Given the description of an element on the screen output the (x, y) to click on. 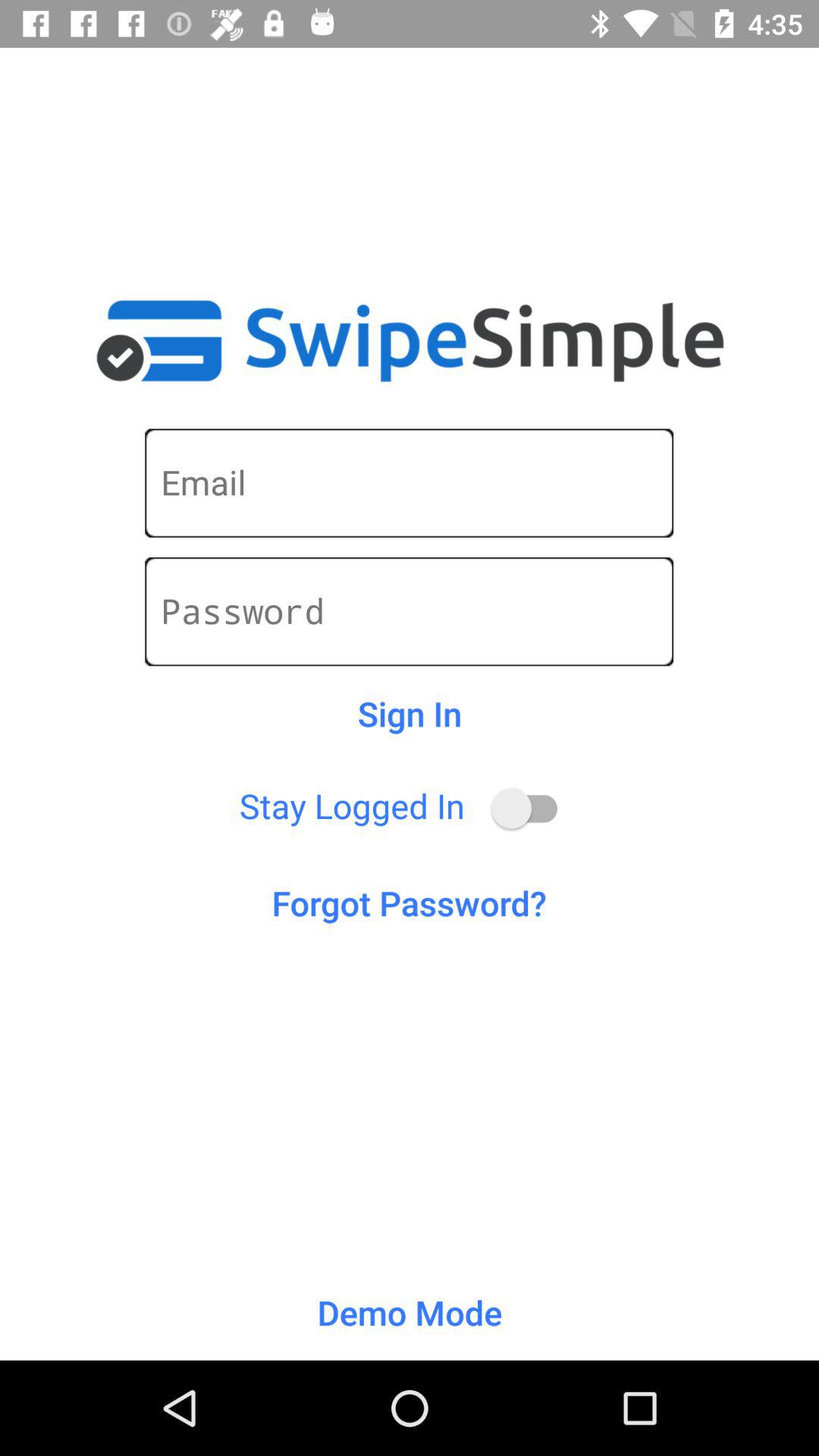
click sign in (409, 713)
